Given the description of an element on the screen output the (x, y) to click on. 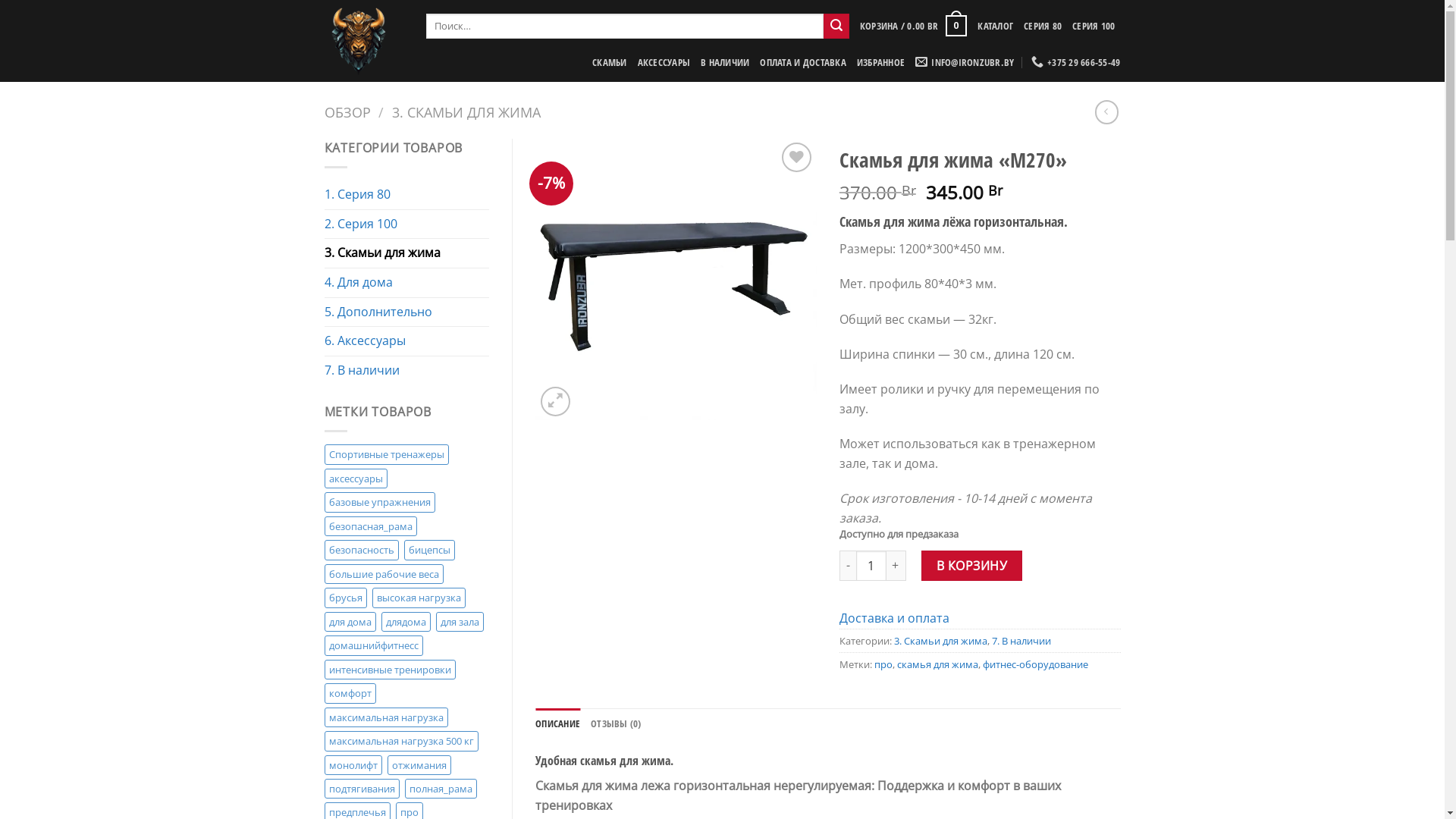
Qty Element type: hover (871, 565)
+375 29 666-55-49 Element type: text (1075, 61)
INFO@IRONZUBR.BY Element type: text (964, 61)
